Given the description of an element on the screen output the (x, y) to click on. 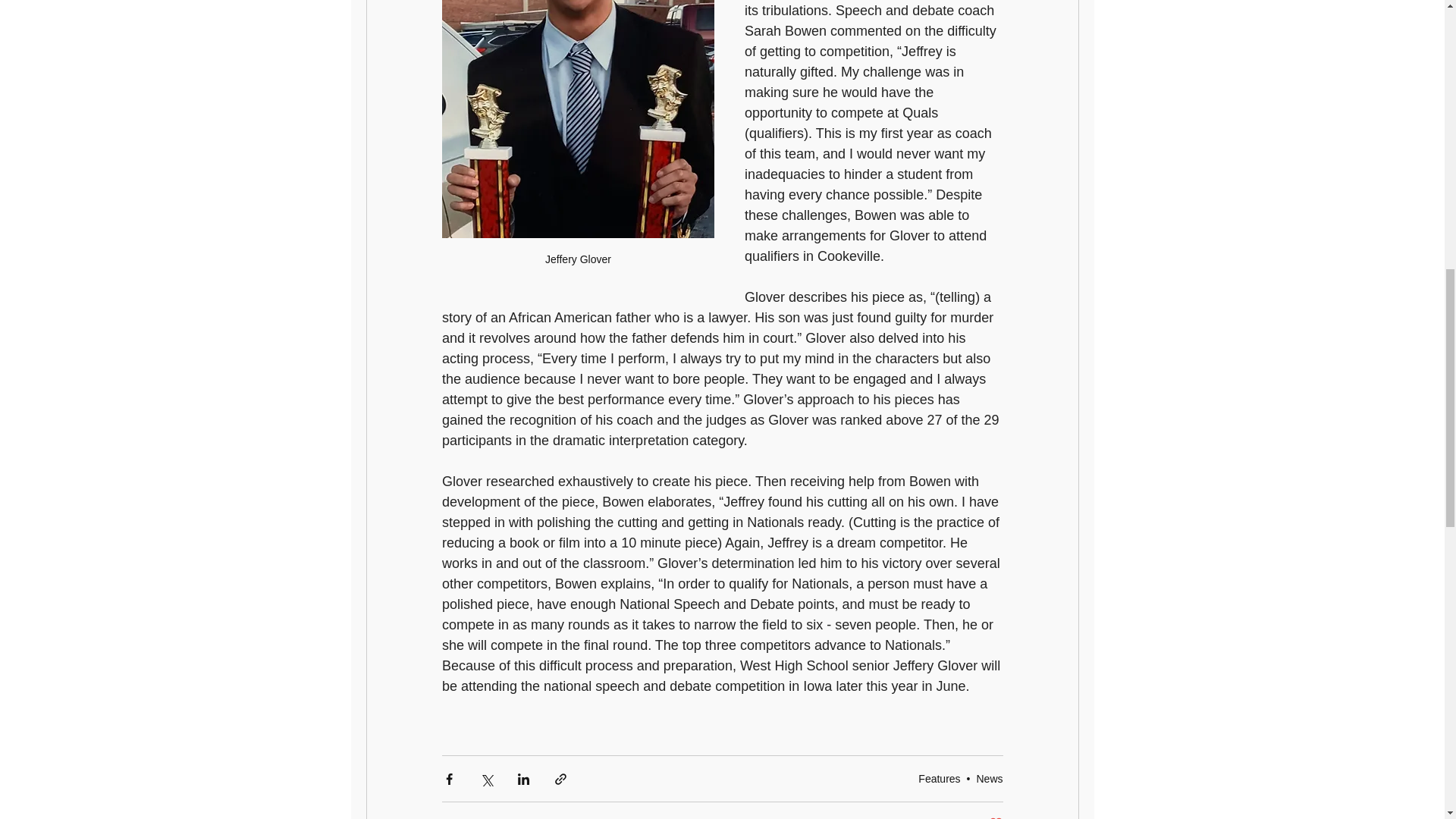
Post not marked as liked (995, 817)
News (989, 777)
Features (938, 777)
